Given the description of an element on the screen output the (x, y) to click on. 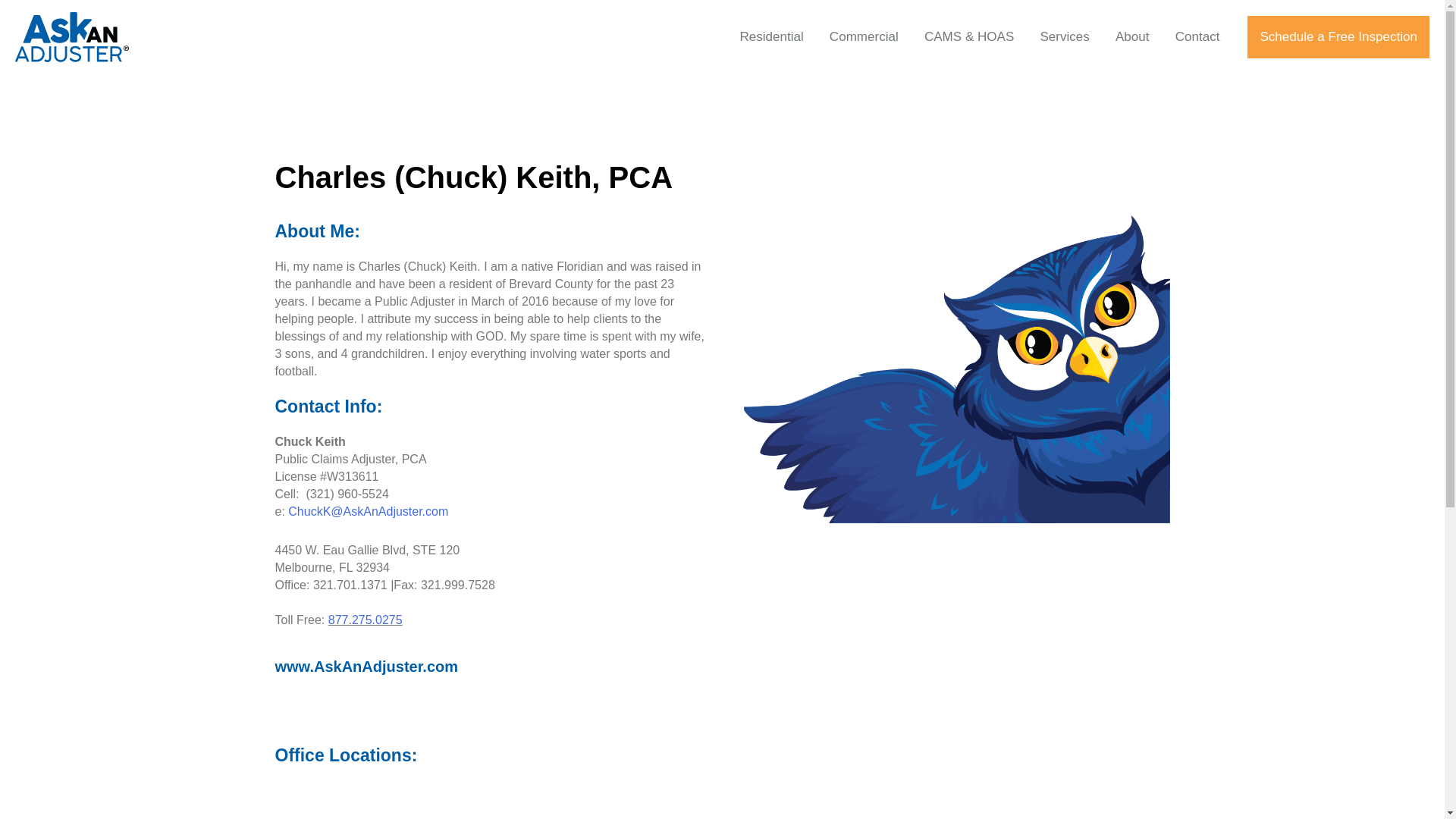
Residential (770, 36)
Services (1064, 36)
About (1131, 36)
Contact (1197, 36)
Commercial (863, 36)
www.AskAnAdjuster.com (490, 666)
877.275.0275 (366, 619)
Schedule a Free Inspection (1338, 36)
